Given the description of an element on the screen output the (x, y) to click on. 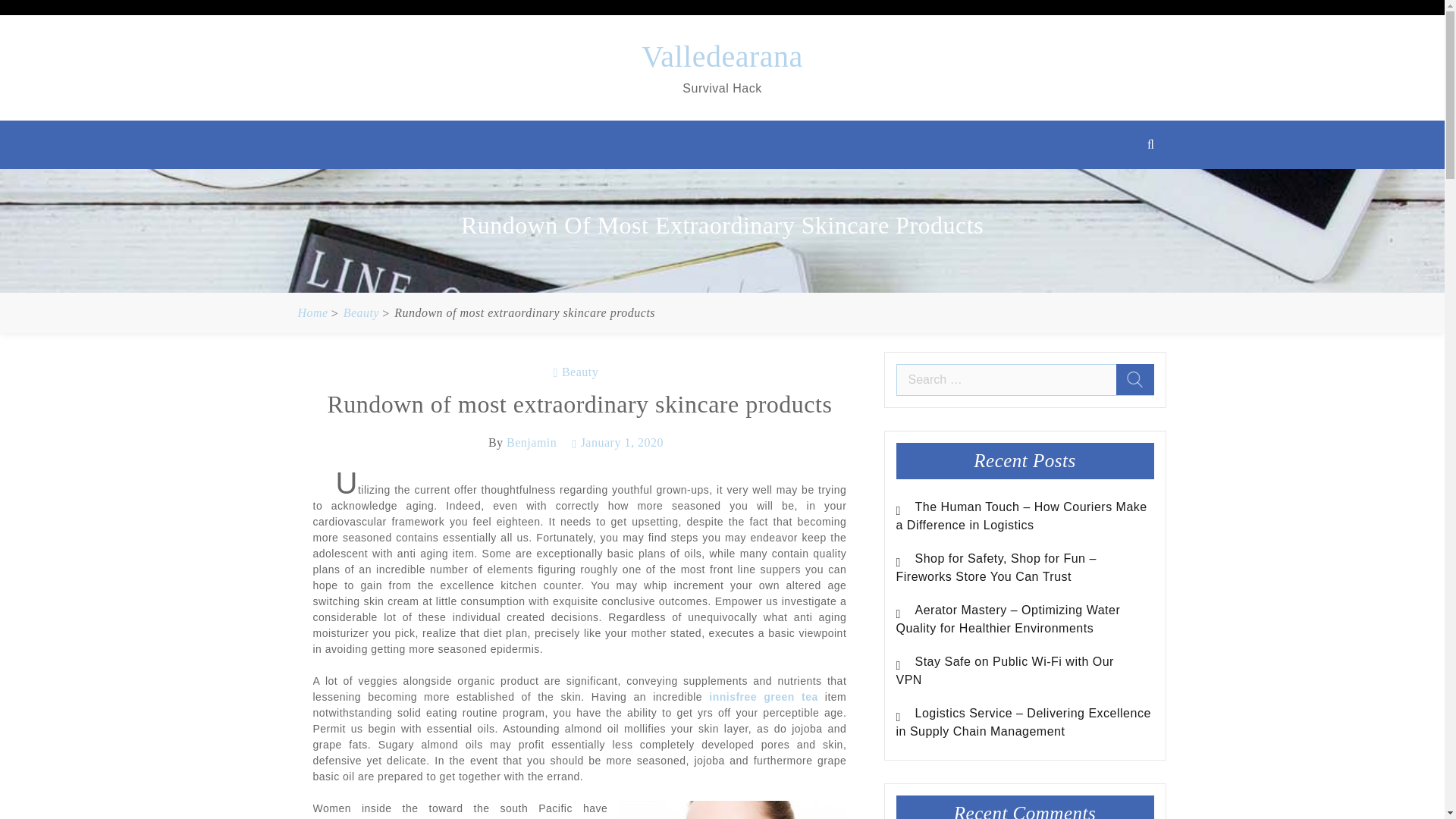
Search (1135, 378)
January 1, 2020 (617, 441)
innisfree green tea (762, 696)
Home (312, 312)
Search (1135, 378)
Search (1373, 192)
Benjamin (531, 441)
Beauty (360, 312)
Search (1135, 378)
Stay Safe on Public Wi-Fi with Our VPN (1004, 670)
Valledearana (722, 56)
Beauty (575, 371)
